Given the description of an element on the screen output the (x, y) to click on. 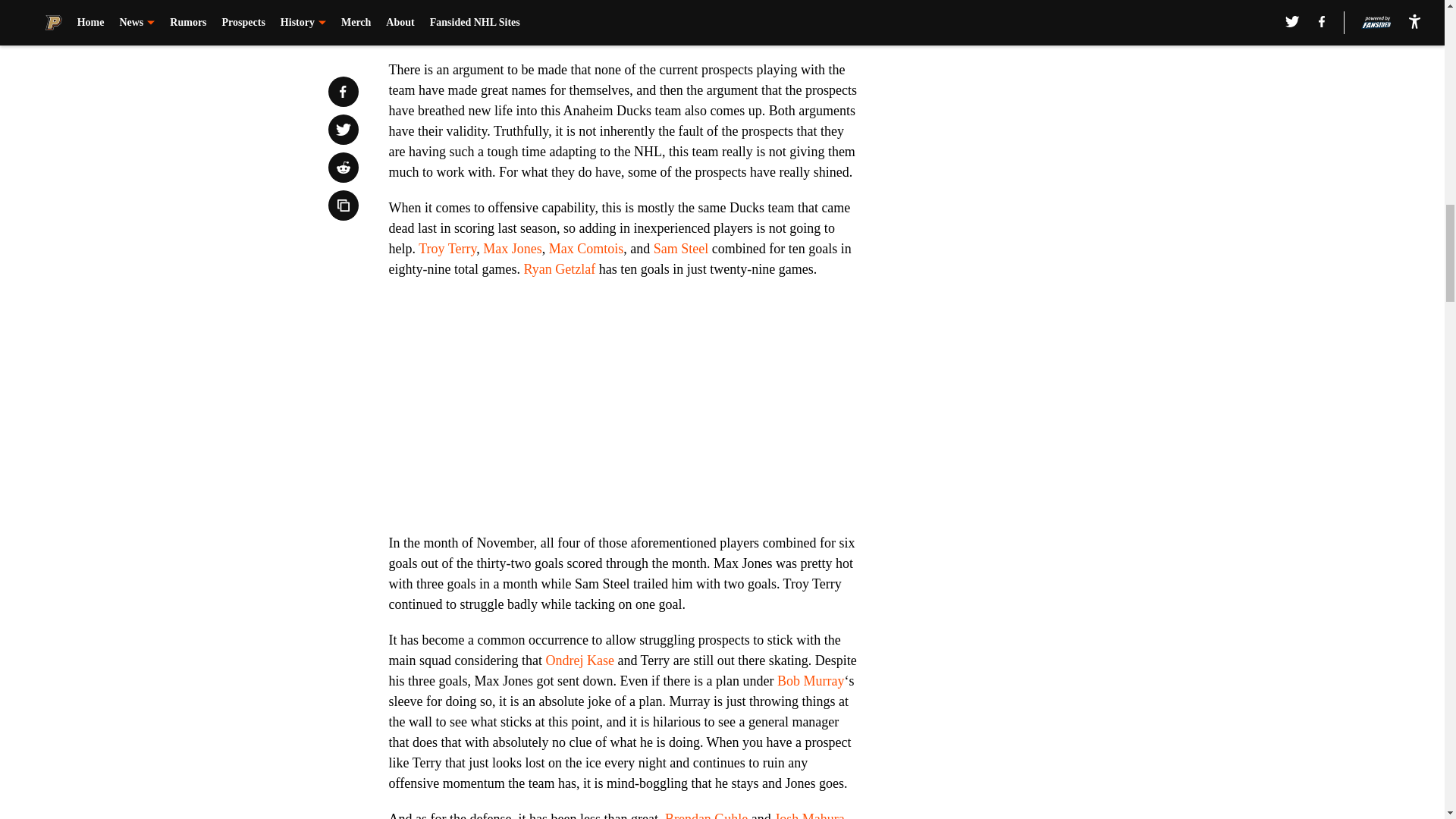
Brendan Guhle (706, 815)
Ryan Getzlaf (558, 268)
Max Comtois (586, 248)
Sam Steel (681, 248)
Troy Terry (447, 248)
Josh Mahura (809, 815)
Max Jones (512, 248)
Bob Murray (810, 680)
Ondrej Kase (578, 660)
